Given the description of an element on the screen output the (x, y) to click on. 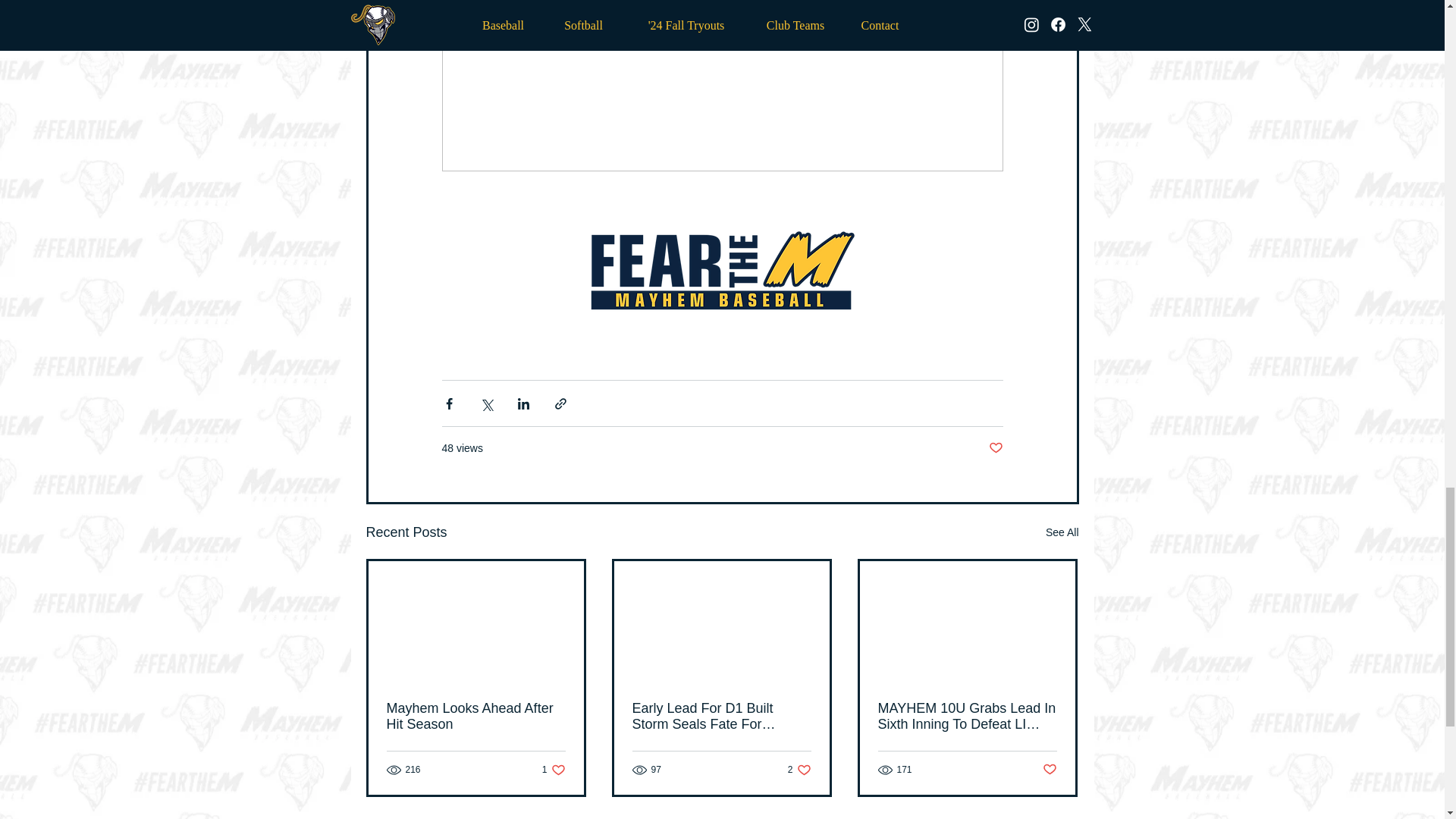
Early Lead For D1 Built Storm Seals Fate For Mayhem 11U (720, 716)
See All (1061, 532)
MAYHEM 10U Grabs Lead In Sixth Inning To Defeat LI Titans (967, 716)
Post not marked as liked (798, 769)
Mayhem Looks Ahead After Hit Season (553, 769)
Post not marked as liked (1049, 770)
